Given the description of an element on the screen output the (x, y) to click on. 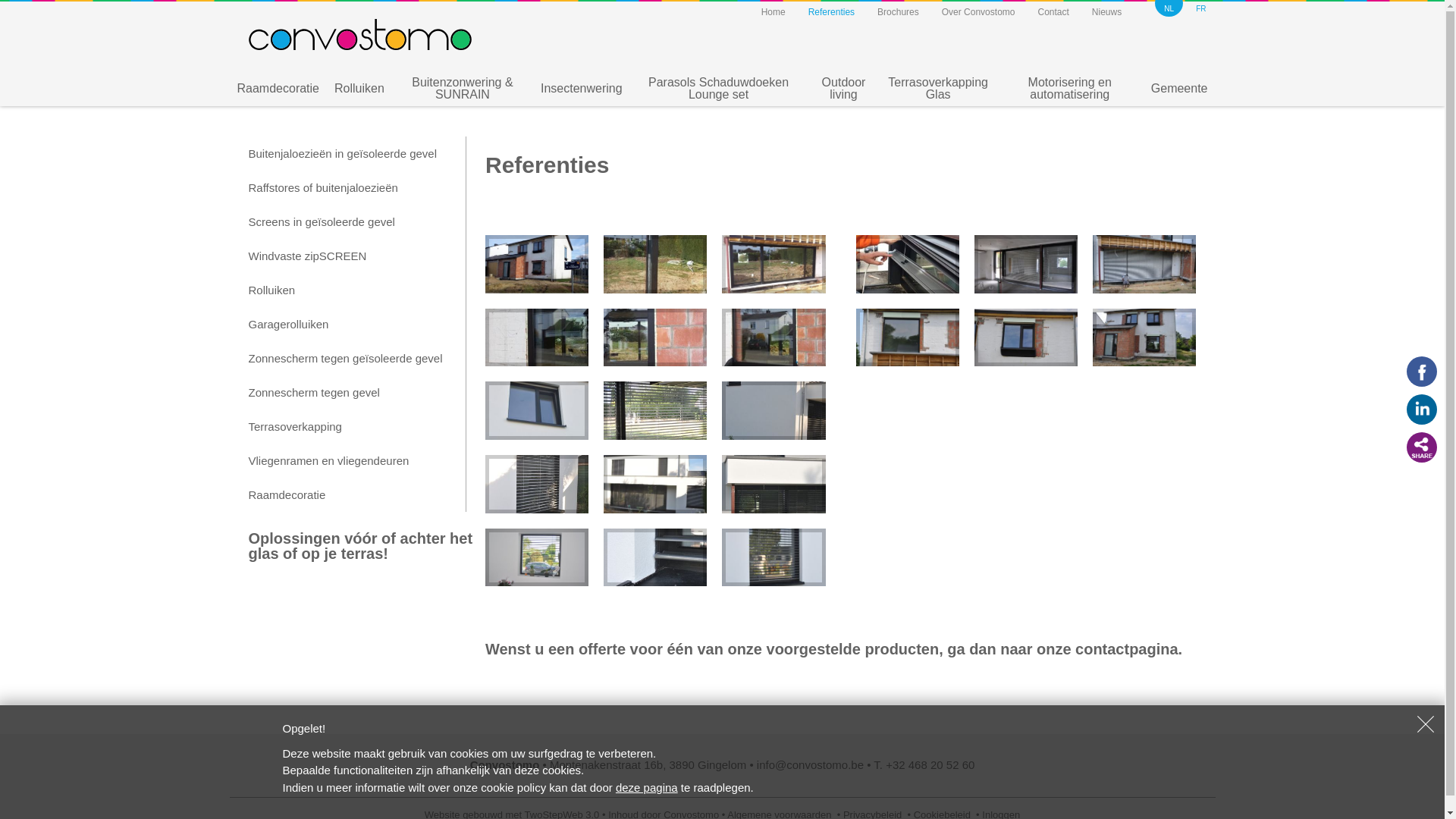
Raamdecoratie Element type: text (277, 88)
Terrasoverkapping Glas Element type: text (938, 88)
Rolluiken Element type: text (347, 290)
Zonnescherm tegen gevel Element type: text (347, 392)
Contact Element type: text (1052, 12)
Gemeente Element type: text (1179, 88)
Motorisering en automatisering Element type: text (1069, 88)
Nieuws Element type: text (1106, 12)
Rolluiken Element type: text (359, 88)
Parasols Schaduwdoeken Lounge set Element type: text (718, 88)
Share Element type: text (1421, 447)
Insectenwering Element type: text (581, 88)
info@convostomo.be Element type: text (809, 764)
Home Element type: text (773, 12)
Referenties Element type: text (831, 12)
Brochures Element type: text (898, 12)
Outdoor living Element type: text (842, 88)
deze pagina Element type: text (646, 787)
Buitenzonwering & SUNRAIN Element type: text (462, 88)
Vliegenramen en vliegendeuren Element type: text (347, 460)
Garagerolluiken Element type: text (347, 324)
Over Convostomo Element type: text (978, 12)
Raamdecoratie Element type: text (347, 494)
Sluiten Element type: text (1425, 724)
Windvaste zipSCREEN Element type: text (347, 255)
Terrasoverkapping Element type: text (347, 426)
